Given the description of an element on the screen output the (x, y) to click on. 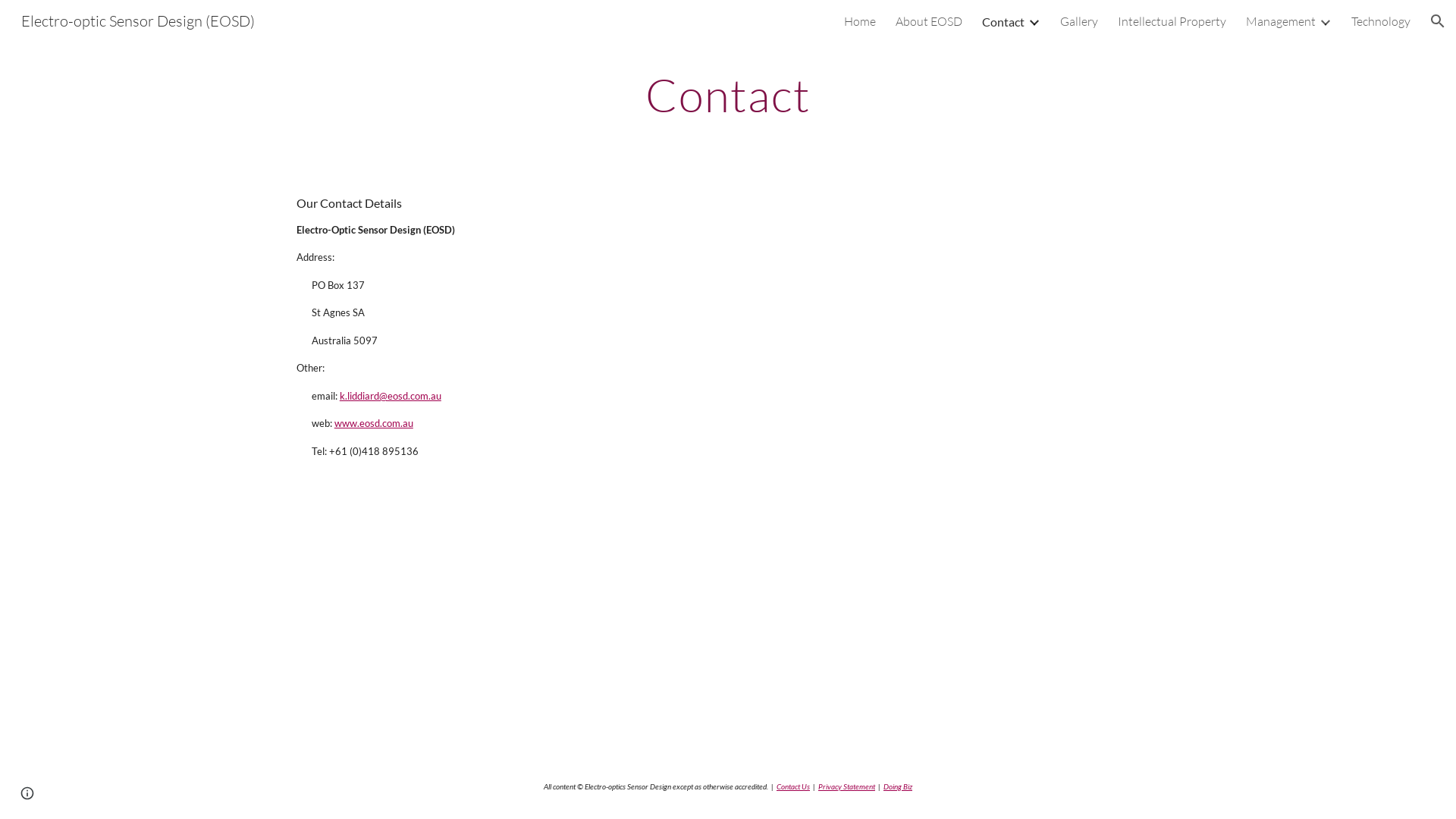
Privacy Statement Element type: text (846, 785)
k.liddiard@eosd.com.au Element type: text (390, 395)
Contact Us Element type: text (792, 785)
Electro-optic Sensor Design (EOSD) Element type: text (137, 18)
Intellectual Property Element type: text (1171, 20)
Gallery Element type: text (1079, 20)
Management Element type: text (1280, 20)
www.eosd.com.au Element type: text (373, 423)
Expand/Collapse Element type: hover (1033, 20)
About EOSD Element type: text (928, 20)
Doing Biz Element type: text (897, 785)
  Element type: text (338, 395)
  Element type: text (333, 423)
Expand/Collapse Element type: hover (1324, 20)
Contact Element type: text (1003, 20)
Home Element type: text (859, 20)
Technology Element type: text (1380, 20)
